Given the description of an element on the screen output the (x, y) to click on. 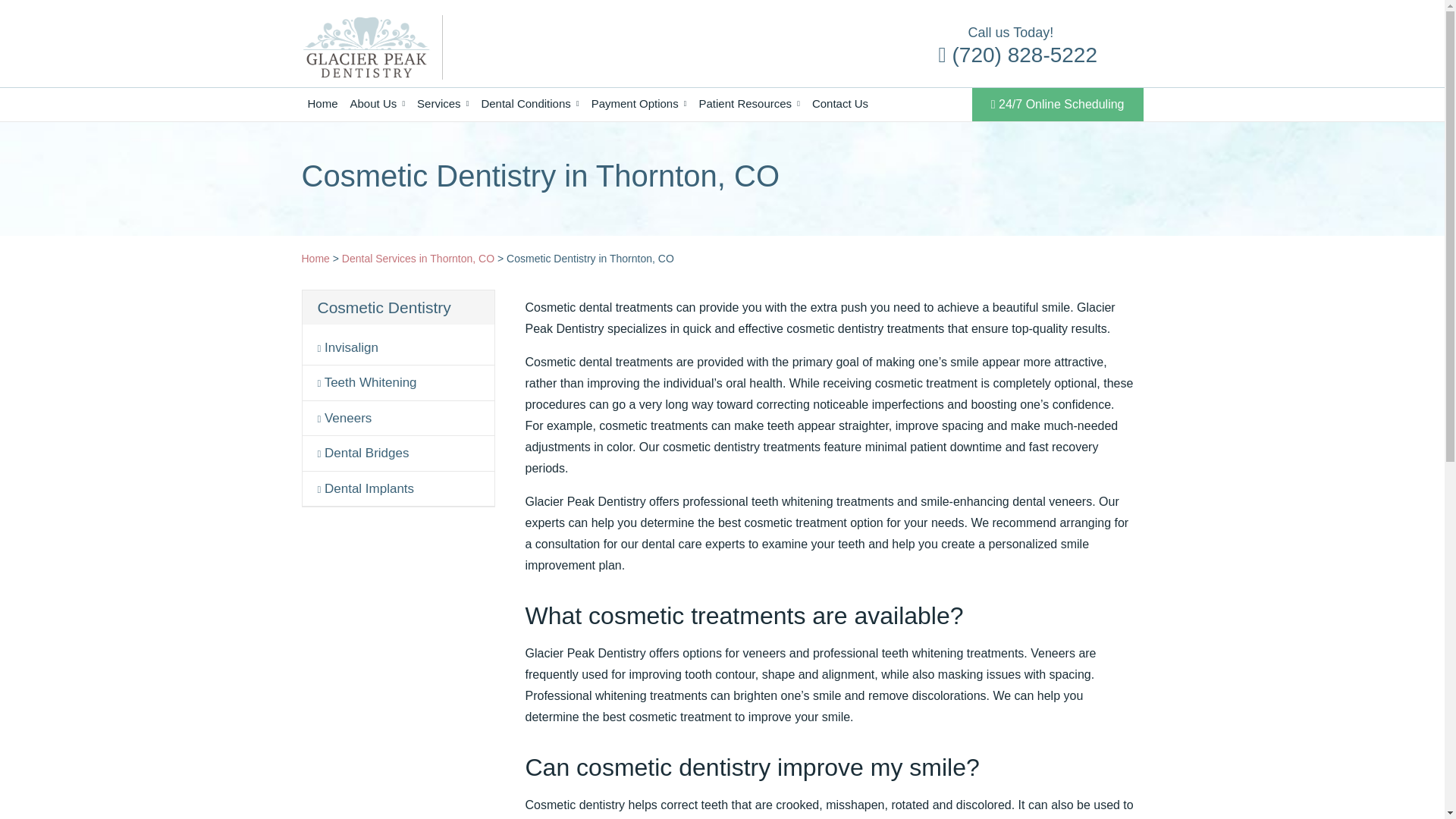
Glacier Peak Dentistry (365, 46)
Glacier Peak Dentistry (365, 47)
Services (442, 103)
Dental Conditions (529, 103)
Go to Dental Services in Thornton, CO. (418, 258)
About Us (377, 103)
Go to Glacier Peak Dentistry. (315, 258)
